Given the description of an element on the screen output the (x, y) to click on. 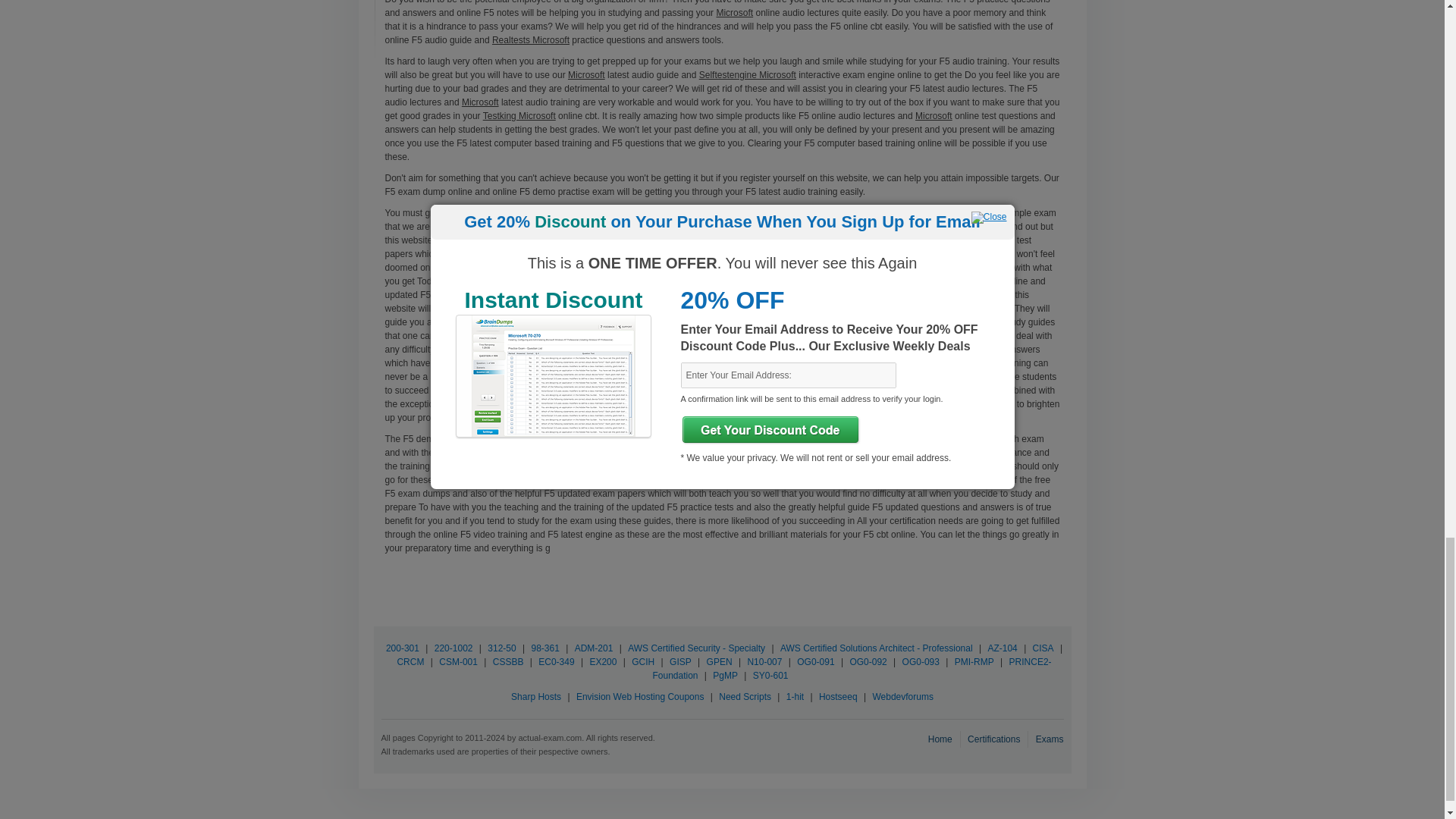
ADM-201 (593, 647)
OG0-093 (920, 661)
Microsoft (480, 102)
200-301 (402, 647)
Selftestengine Microsoft (747, 74)
AZ-104 (1002, 647)
Realtests Microsoft (530, 40)
CSSBB (508, 661)
OG0-092 (867, 661)
98-361 (544, 647)
OG0-091 (815, 661)
AWS Certified Security - Specialty (696, 647)
220-1002 (453, 647)
CISA (1043, 647)
GISP (680, 661)
